Given the description of an element on the screen output the (x, y) to click on. 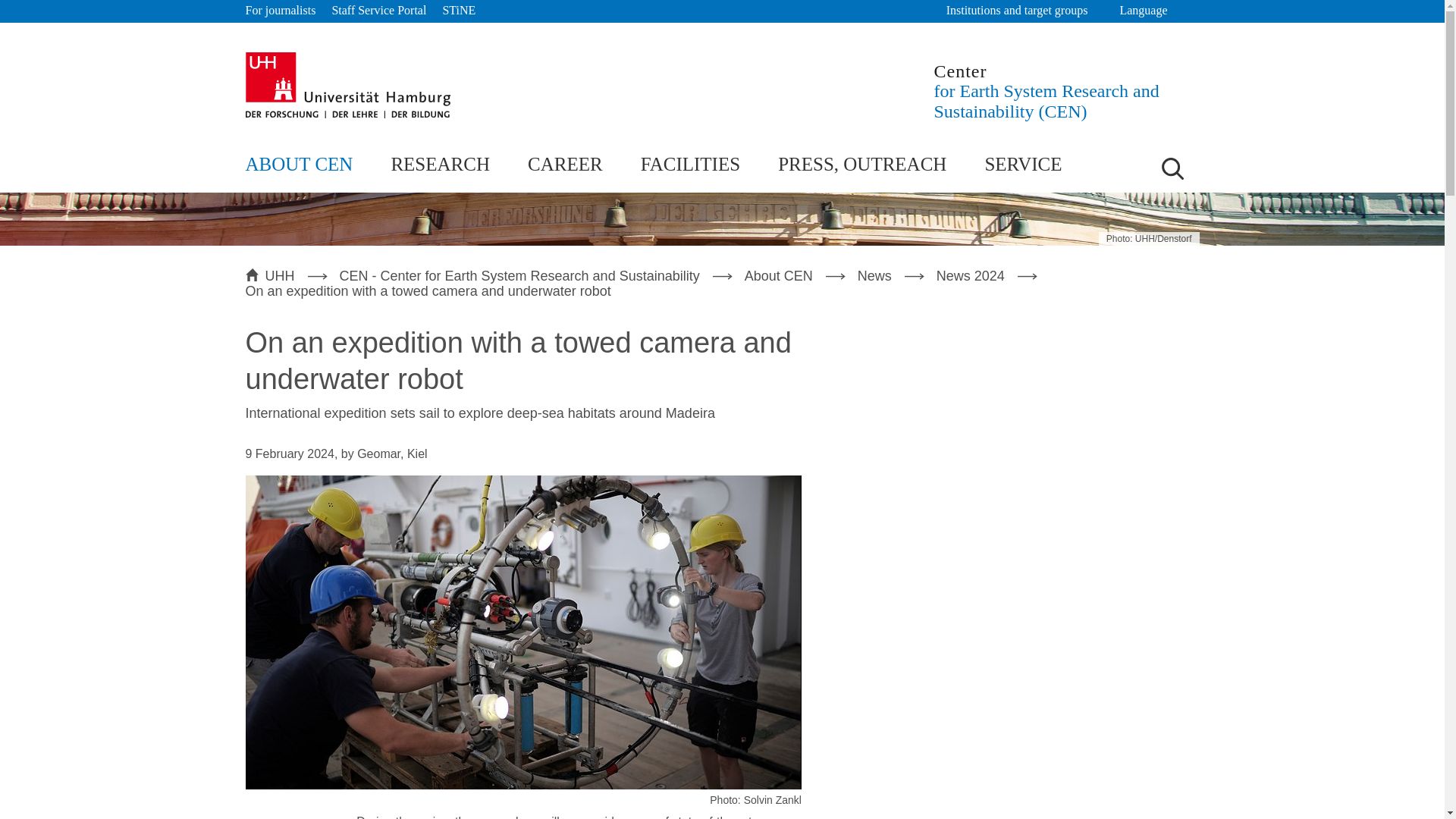
Home (347, 84)
Page logo: Home (1066, 91)
Institutions and target groups (1024, 11)
STiNE (459, 11)
Staff Service Portal (378, 11)
For journalists (280, 11)
